Given the description of an element on the screen output the (x, y) to click on. 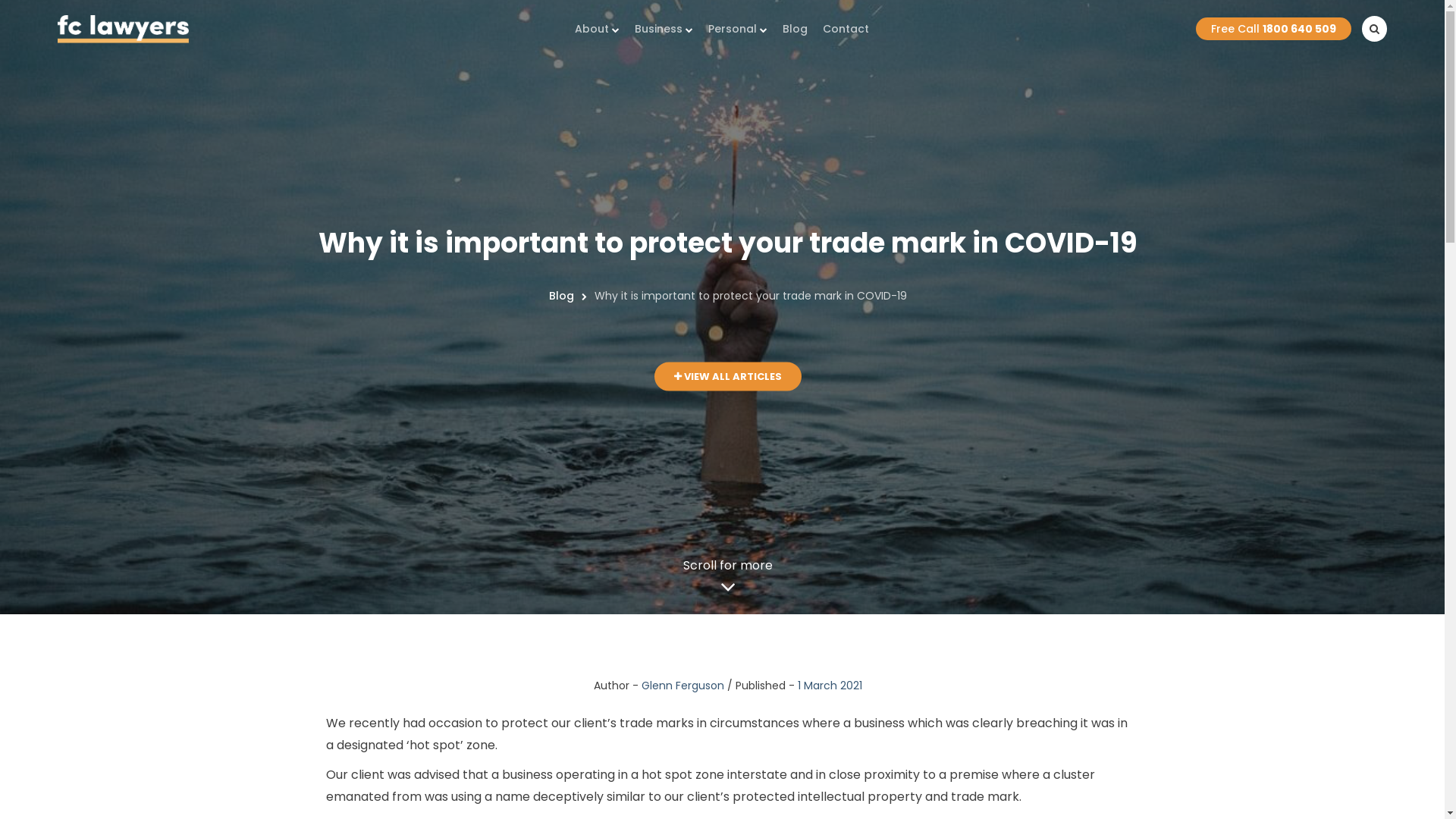
Personal Element type: text (737, 29)
Business Element type: text (663, 29)
Blog Element type: text (561, 295)
Contact Element type: text (845, 29)
Blog Element type: text (795, 29)
Free Call 1800 640 509 Element type: text (1273, 28)
About Element type: text (597, 29)
VIEW ALL ARTICLES Element type: text (727, 376)
